Given the description of an element on the screen output the (x, y) to click on. 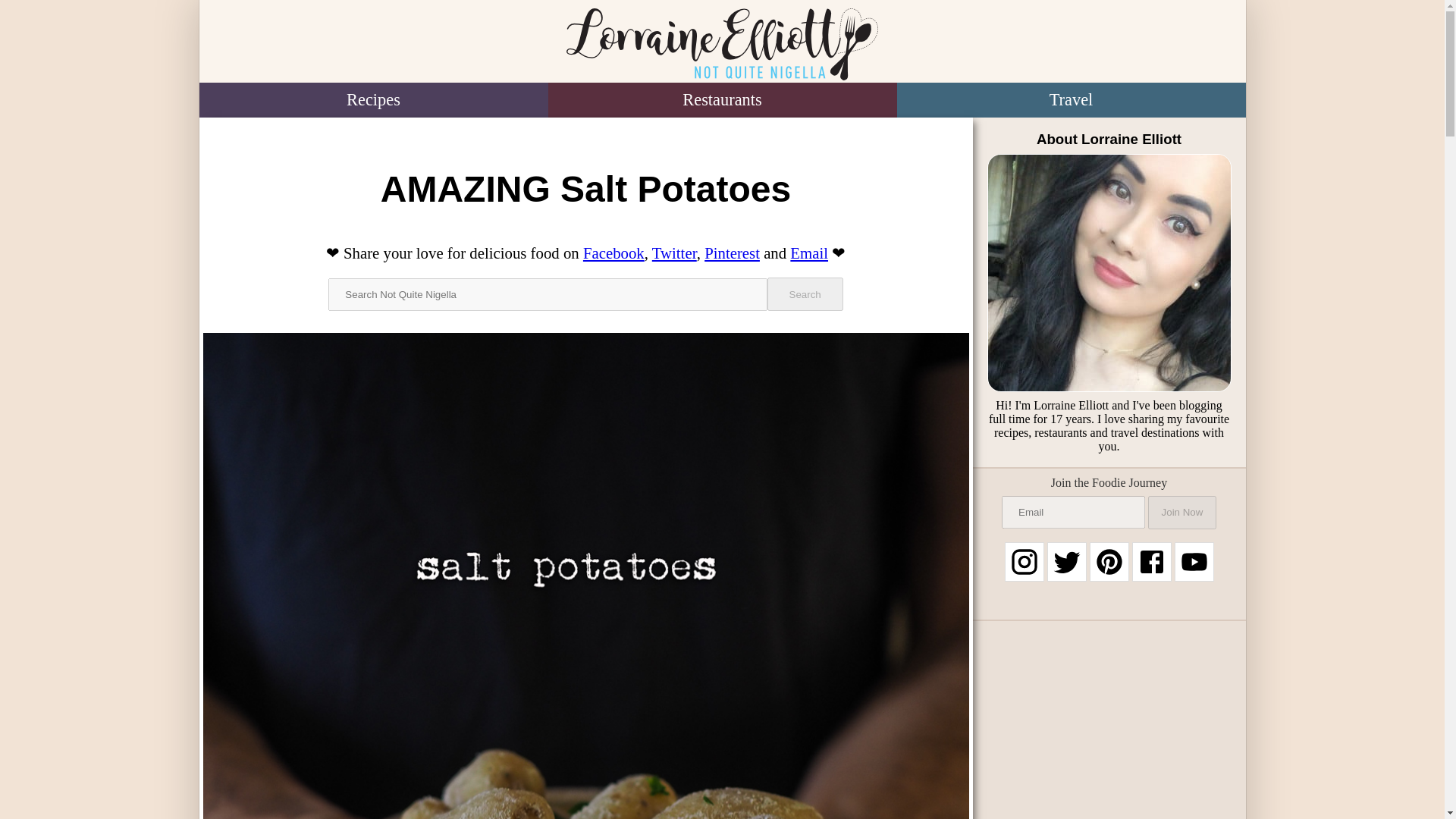
Email (809, 252)
Email (809, 252)
Recipes (372, 99)
Pinterest (732, 252)
Travel (1070, 99)
Twitter (674, 252)
Search (805, 294)
delicious food (513, 252)
Tweet (674, 252)
Restaurants (721, 99)
